Given the description of an element on the screen output the (x, y) to click on. 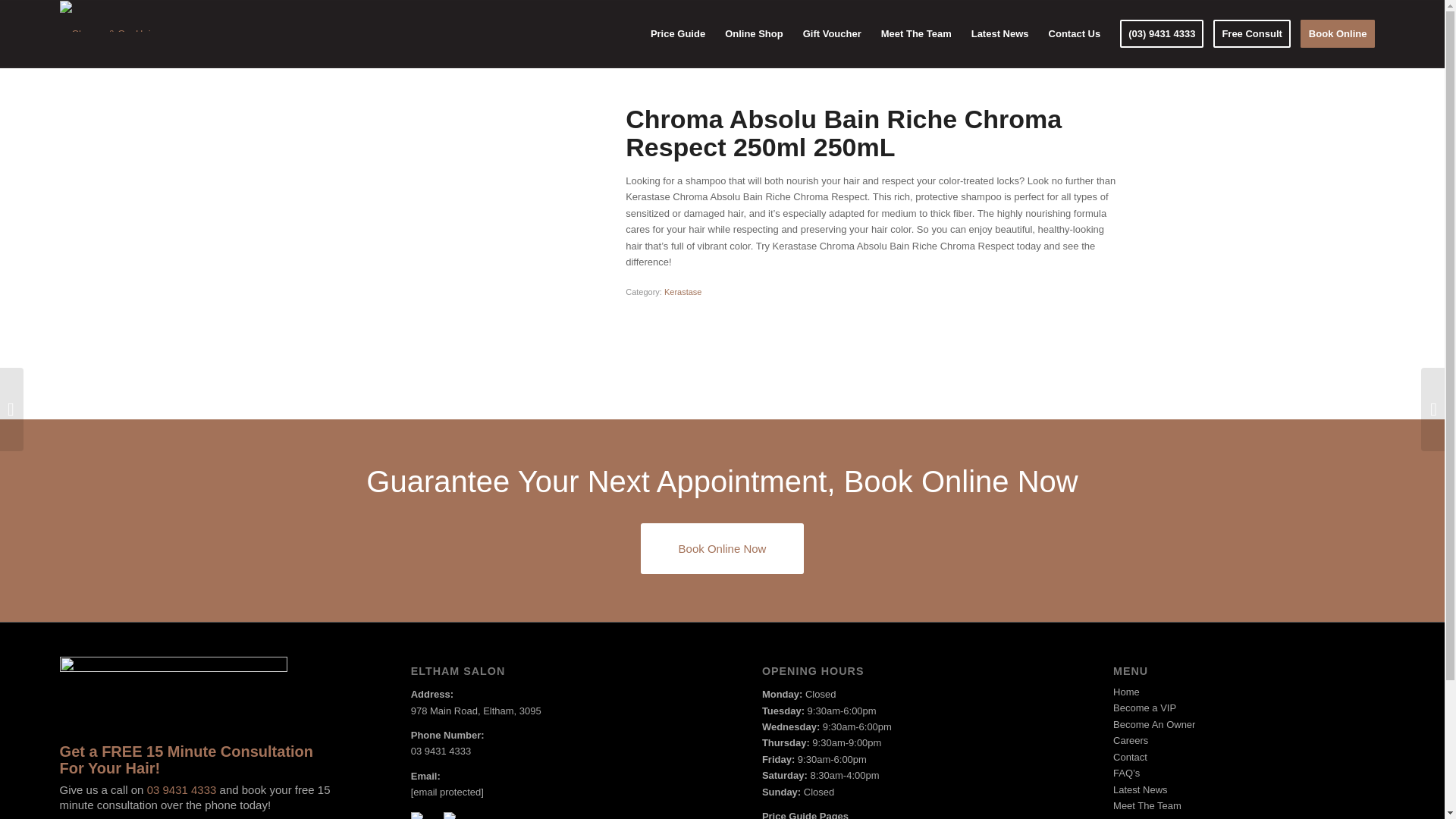
Become An Owner (1248, 724)
03 9431 4333 (181, 789)
Meet The Team (915, 33)
Kerastase (682, 291)
Book Online (1343, 33)
Careers (1248, 740)
Contact Us (1074, 33)
Price Guide (677, 33)
Contact (1248, 756)
Latest News (999, 33)
